Given the description of an element on the screen output the (x, y) to click on. 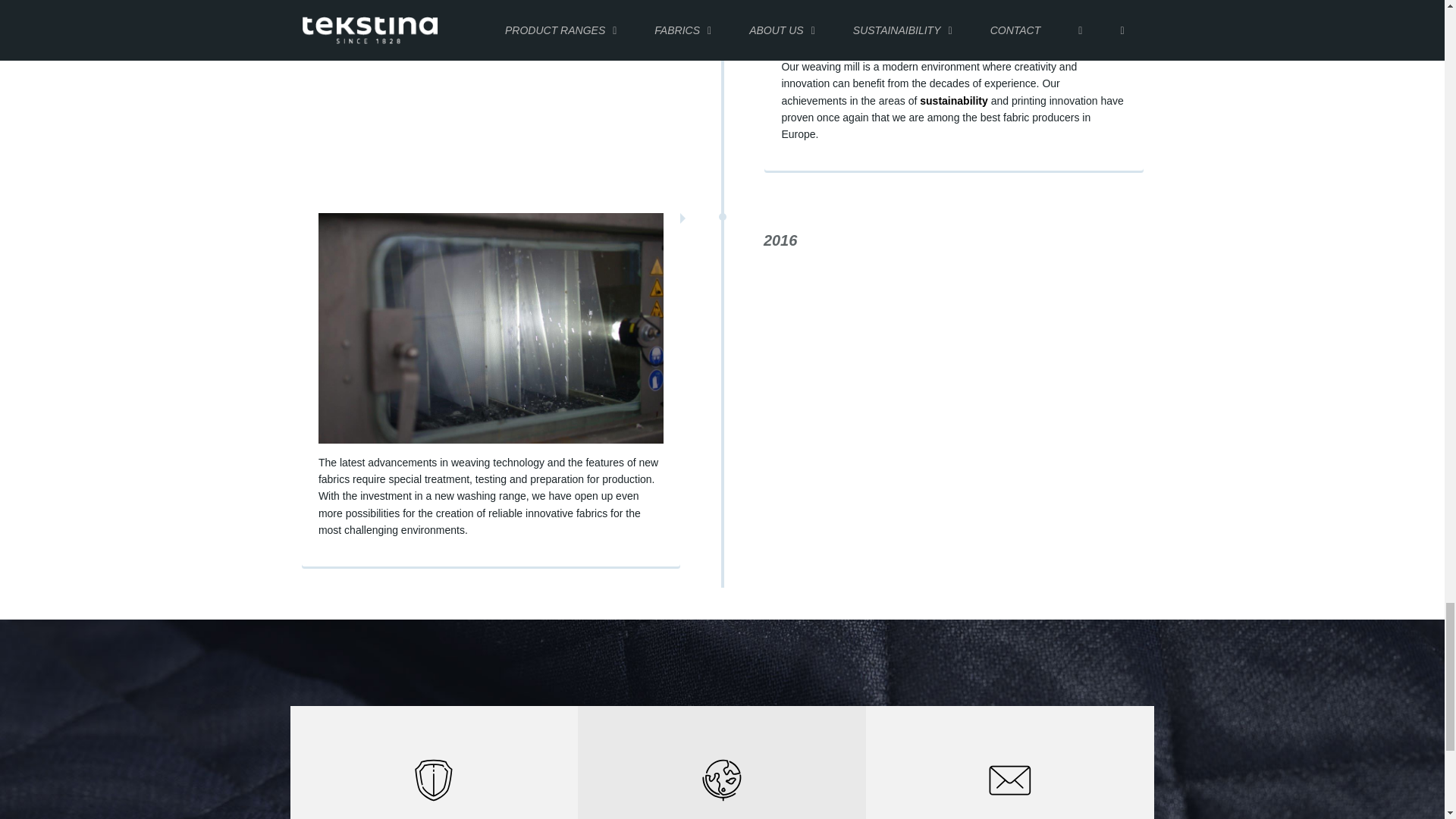
sustainability (953, 101)
